Given the description of an element on the screen output the (x, y) to click on. 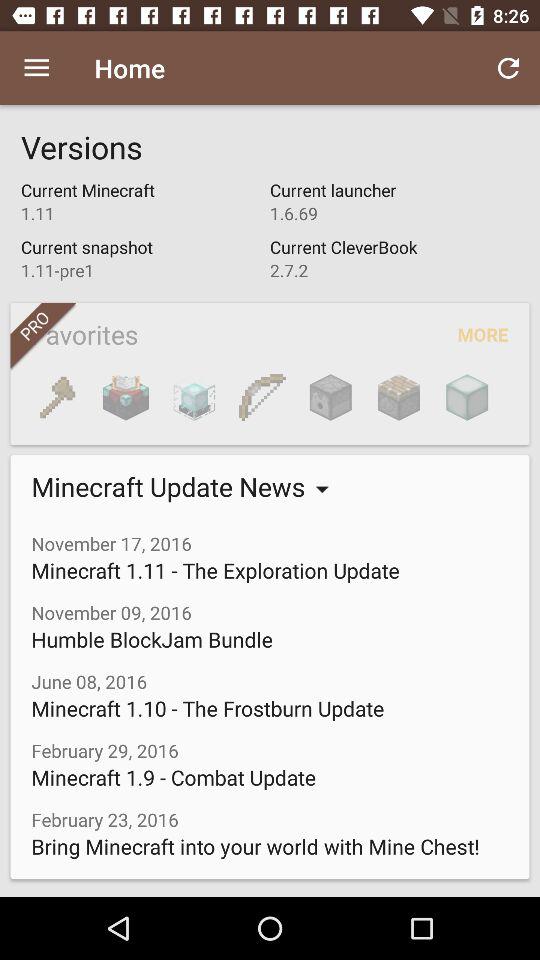
launch icon next to the more icon (398, 397)
